Given the description of an element on the screen output the (x, y) to click on. 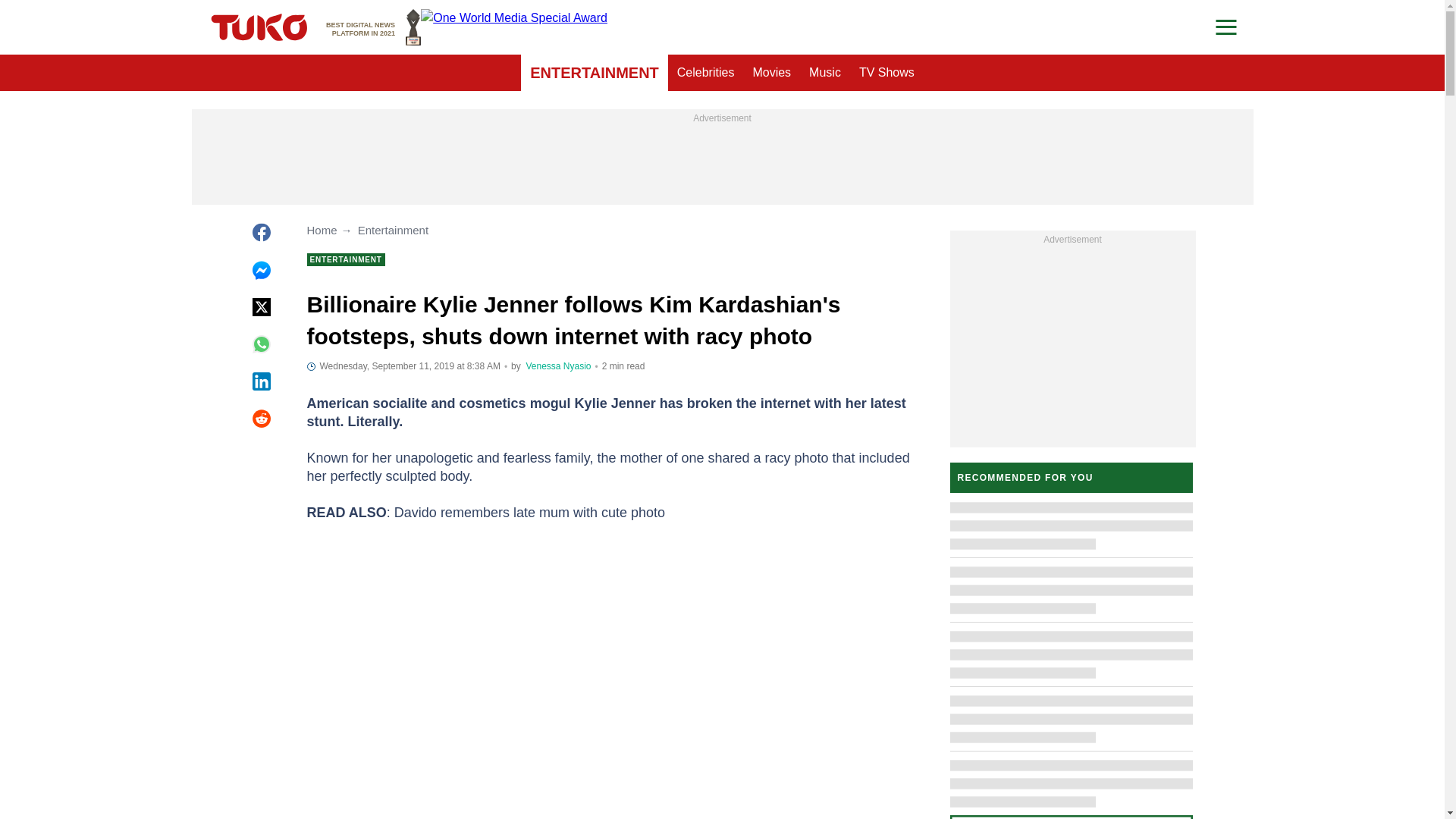
Movies (770, 72)
Music (824, 72)
Celebrities (706, 72)
TV Shows (373, 27)
Author page (886, 72)
ENTERTAINMENT (558, 366)
